Given the description of an element on the screen output the (x, y) to click on. 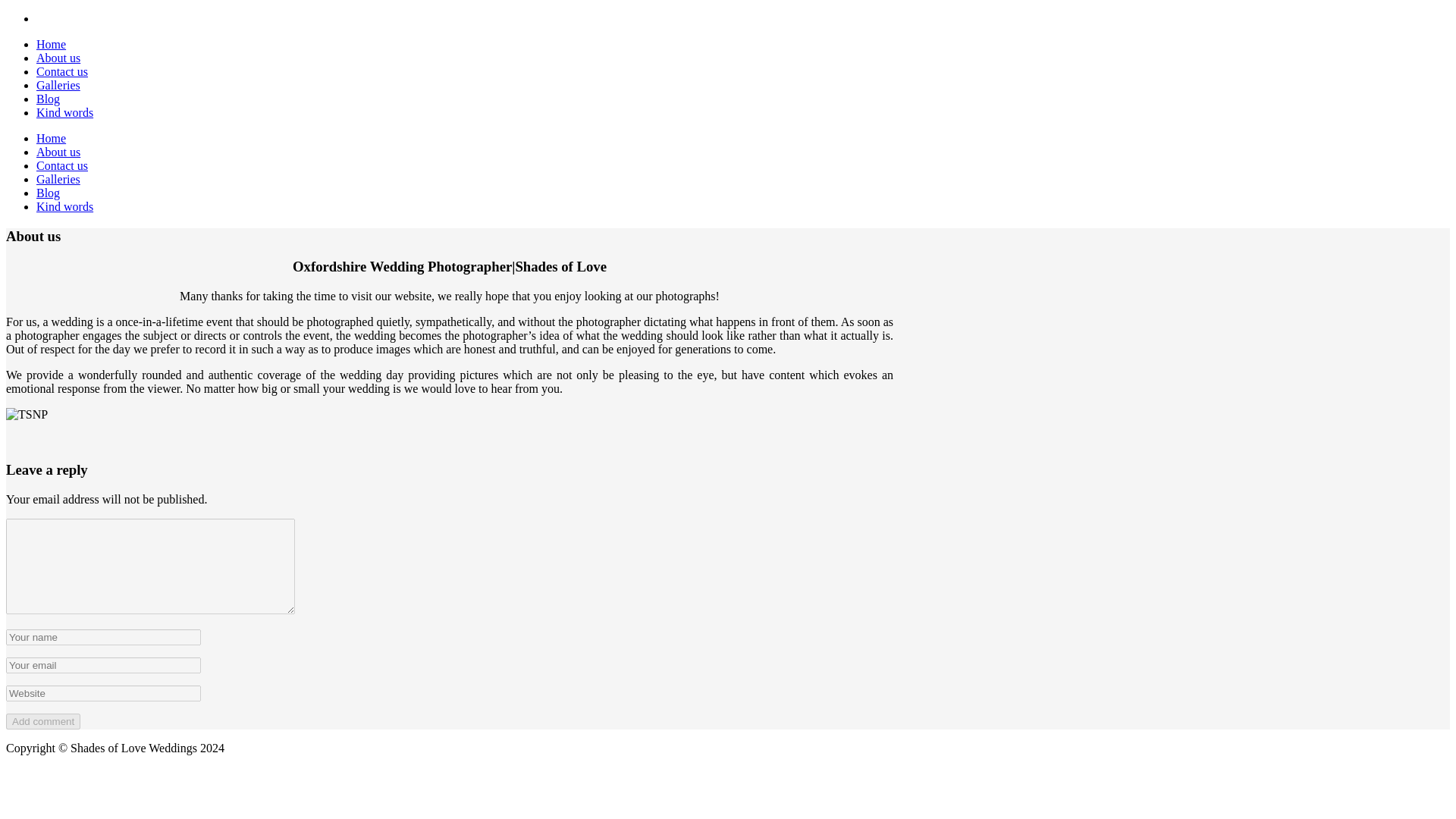
Kind words (64, 112)
Galleries (58, 178)
About us (58, 151)
Blog (47, 98)
Add comment (42, 721)
Home (50, 137)
Home (50, 43)
Contact us (61, 164)
Blog (47, 192)
Add comment (42, 721)
Kind words (64, 205)
Contact us (61, 71)
Galleries (58, 84)
About us (58, 57)
